Given the description of an element on the screen output the (x, y) to click on. 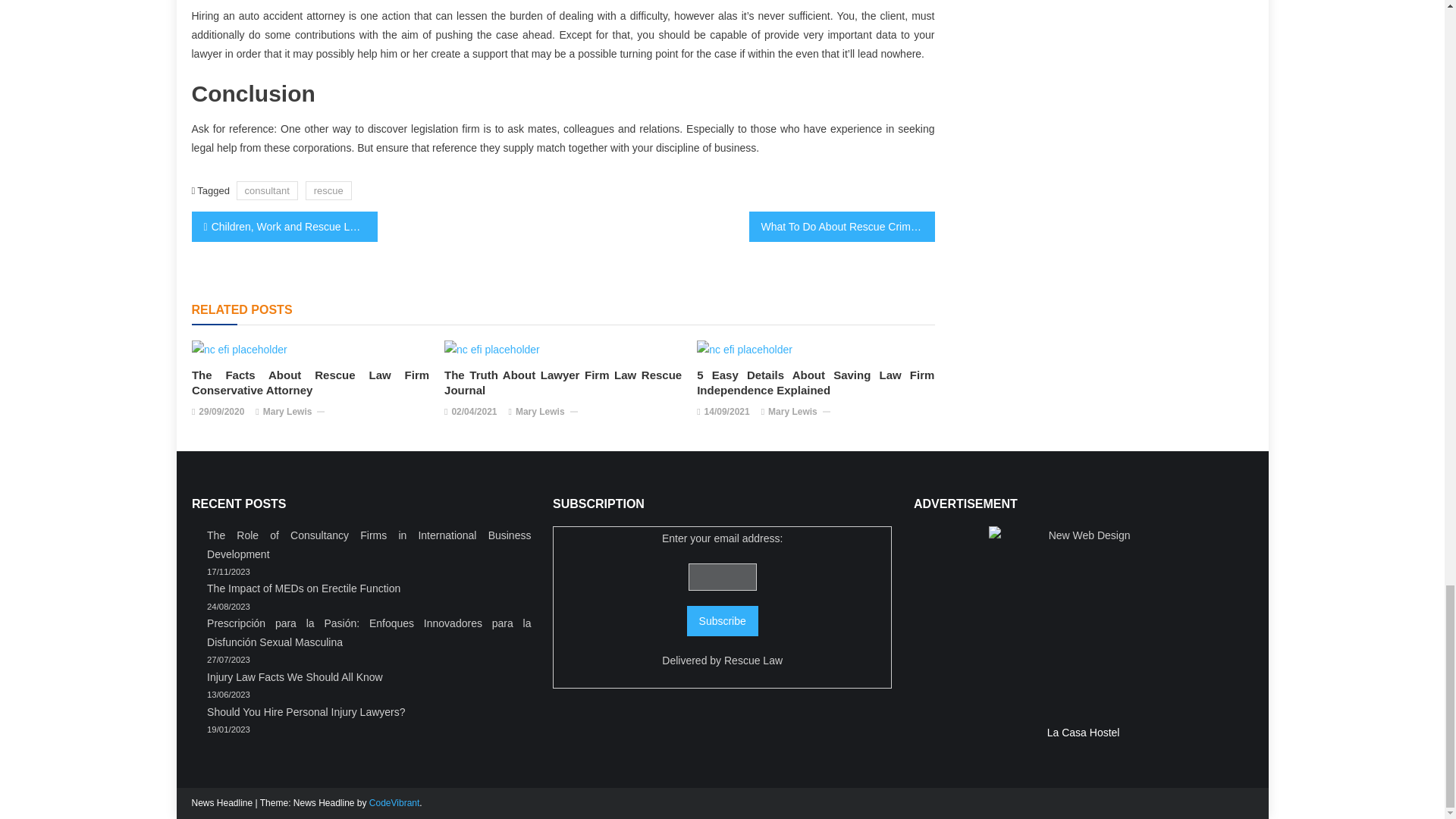
What To Do About Rescue Criminal Law Before It is Too Late (841, 226)
rescue (328, 189)
Children, Work and Rescue Law Firm Conservative Attorney (283, 226)
5 Easy Details About Saving Law Firm Independence Explained (744, 349)
Mary Lewis (288, 412)
consultant (266, 189)
The Facts About Rescue Law Firm Conservative Attorney (310, 382)
The Truth About Lawyer Firm Law Rescue Journal (492, 349)
Subscribe (722, 621)
The Facts About Rescue Law Firm Conservative Attorney (239, 349)
